Given the description of an element on the screen output the (x, y) to click on. 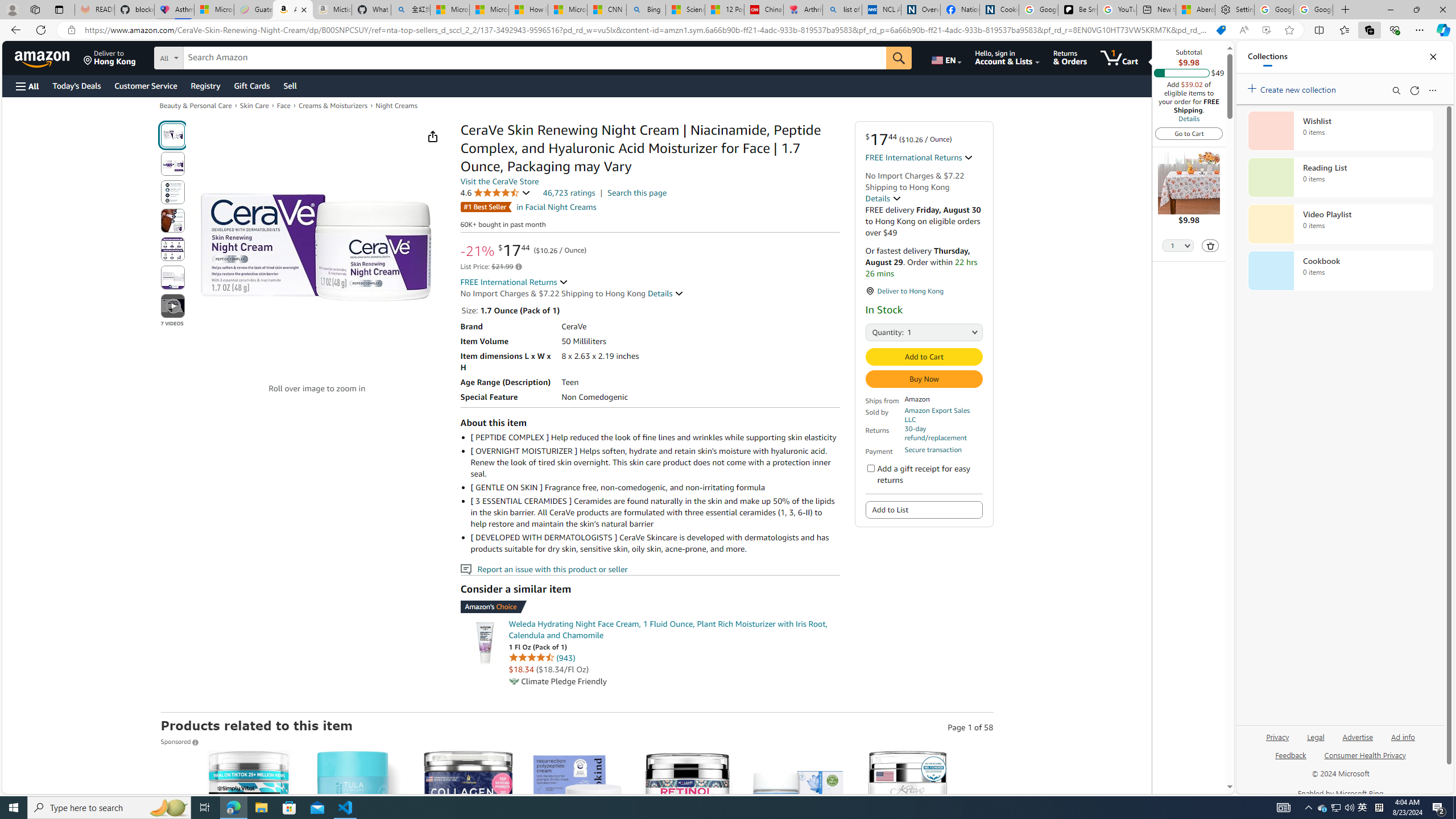
Feedback (1291, 759)
Amazon (43, 57)
Delete (1210, 245)
Consumer Health Privacy (1364, 759)
Cookbook collection, 0 items (1339, 270)
Create new collection (1293, 87)
More options menu (1432, 90)
Report an issue with this product or seller (465, 569)
Wishlist collection, 0 items (1339, 130)
CNN - MSN (606, 9)
Search Amazon (534, 57)
Skin Care (253, 105)
